Given the description of an element on the screen output the (x, y) to click on. 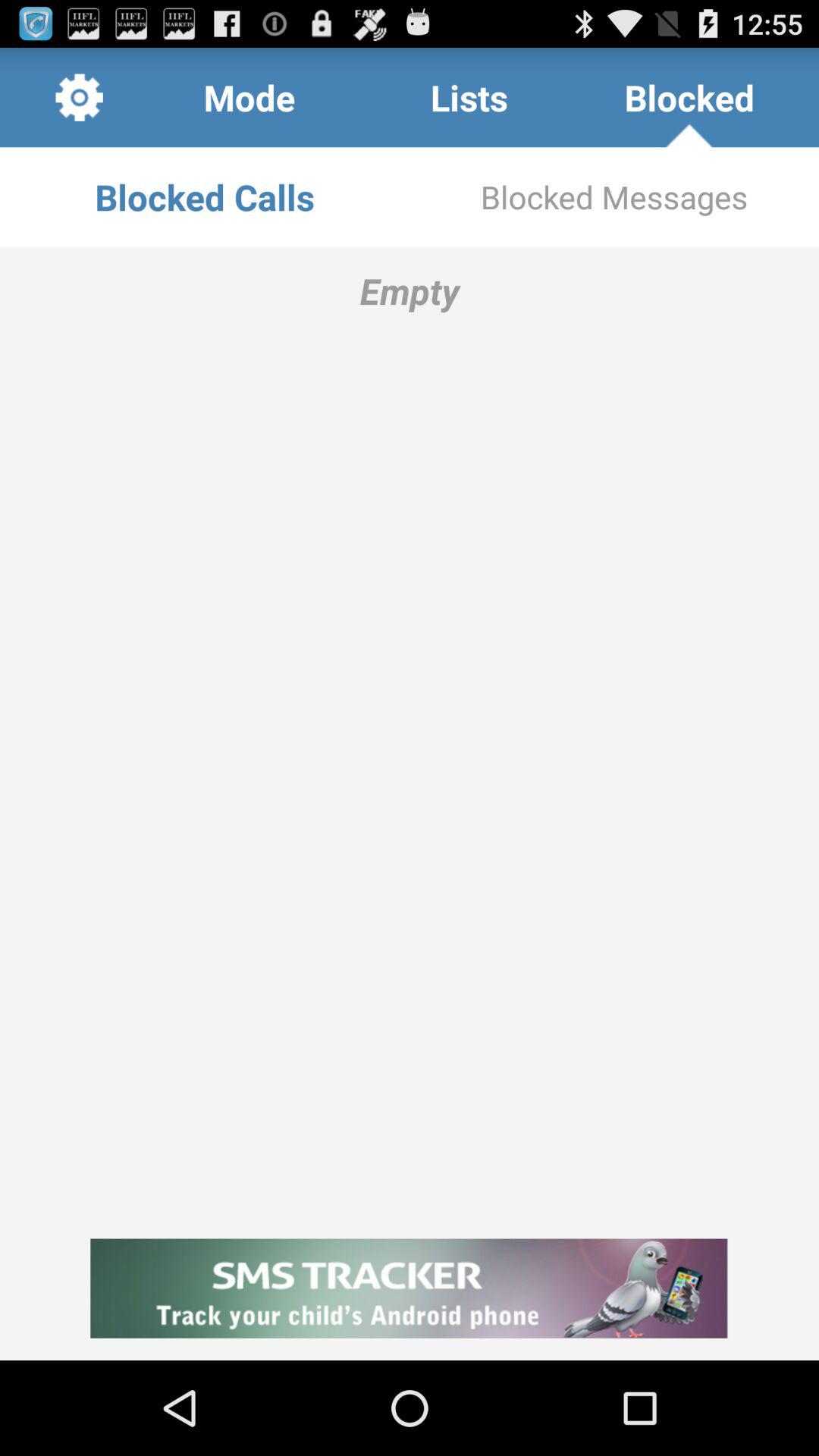
choose the mode item (249, 97)
